Given the description of an element on the screen output the (x, y) to click on. 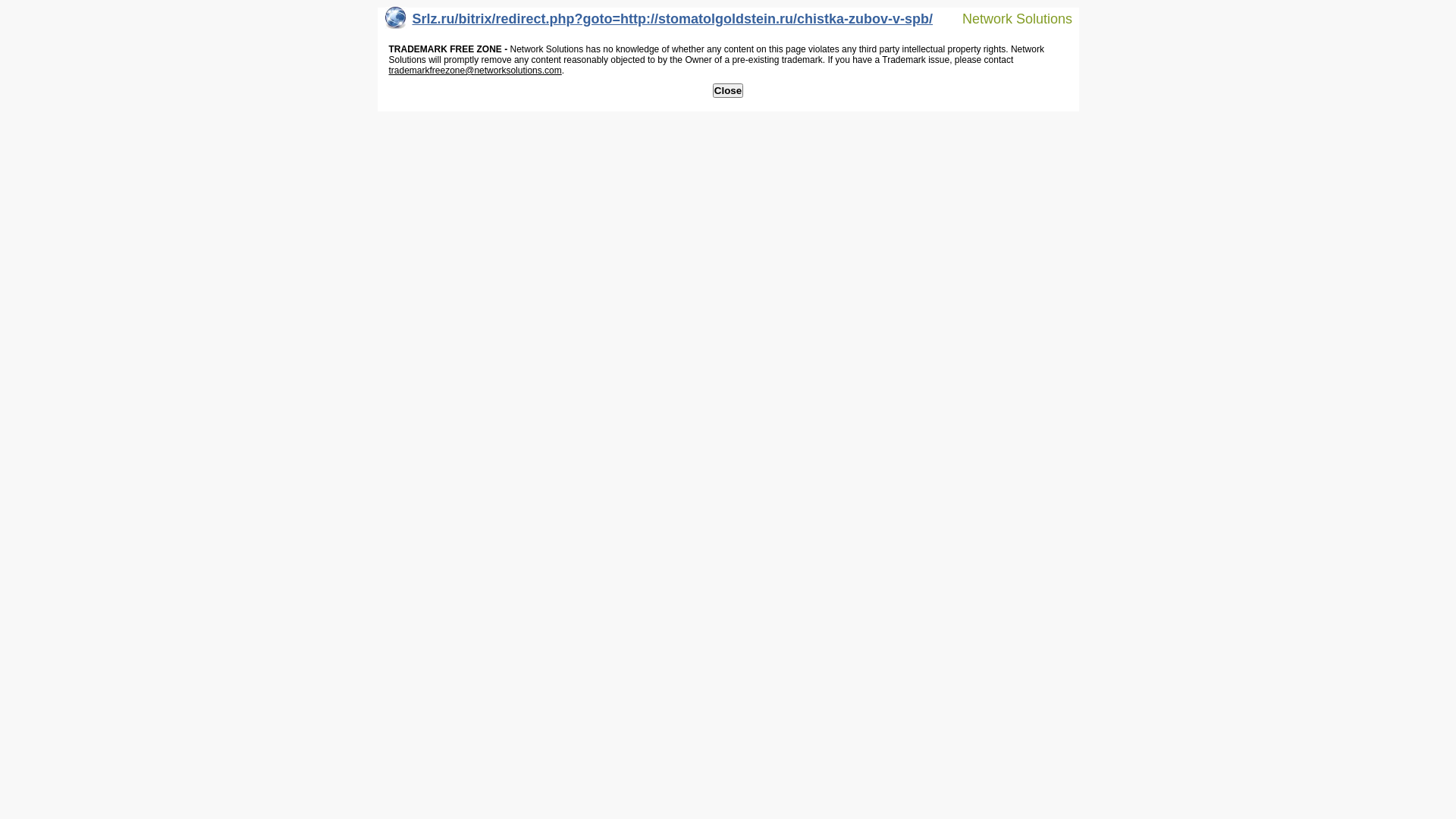
Close Element type: text (727, 90)
trademarkfreezone@networksolutions.com Element type: text (474, 70)
Network Solutions Element type: text (1007, 17)
